Given the description of an element on the screen output the (x, y) to click on. 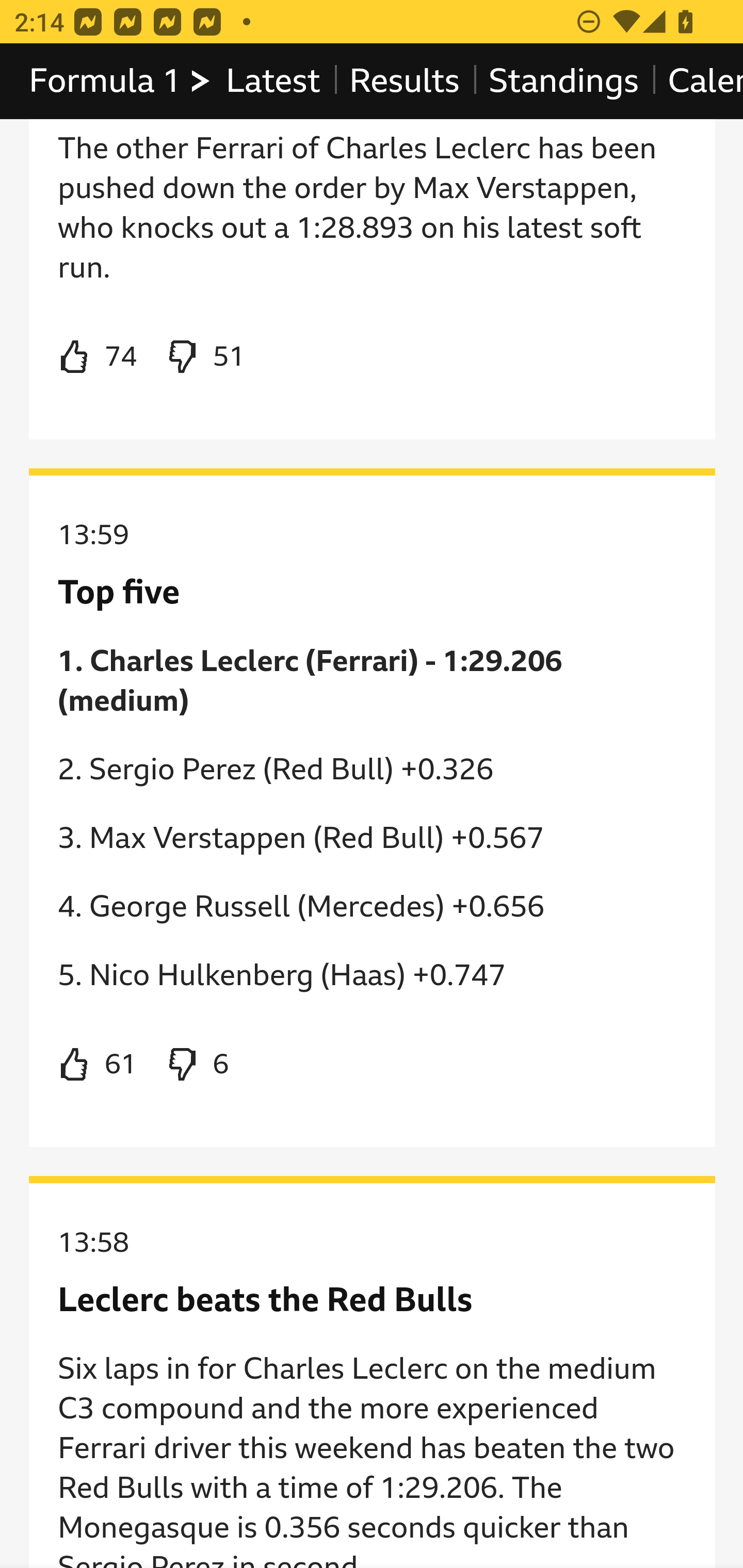
Like (97, 358)
Dislike (204, 358)
Like (97, 1066)
Dislike (196, 1066)
